Given the description of an element on the screen output the (x, y) to click on. 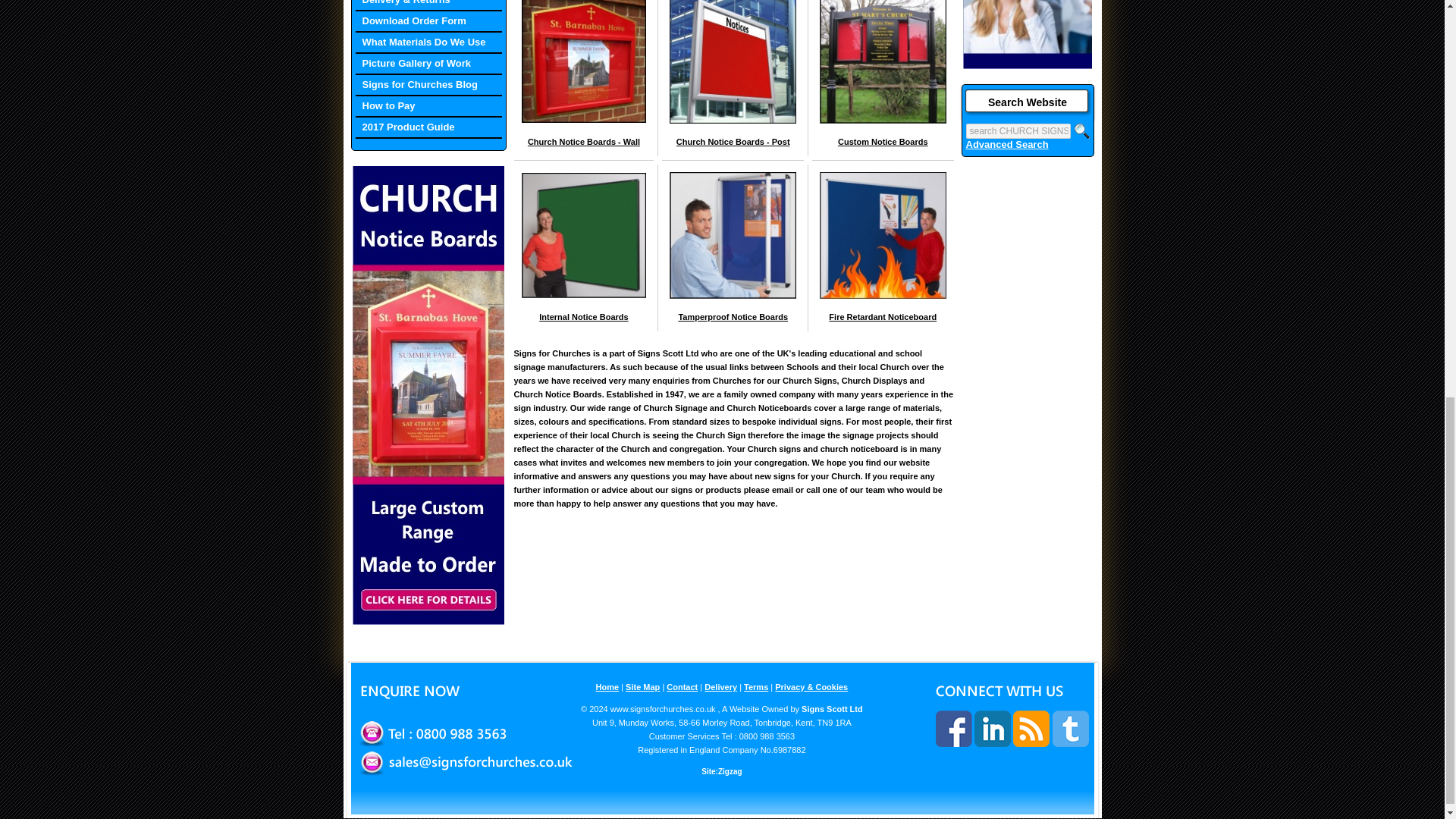
Go (1081, 130)
Download Order Form (427, 21)
What Materials Do We Use (427, 43)
How to Pay (427, 106)
Go (1081, 130)
Picture Gallery of Work (427, 64)
Signs for Churches Blog (427, 85)
Church Notice Boards - Wall (583, 141)
2017 Product Guide (427, 127)
